Given the description of an element on the screen output the (x, y) to click on. 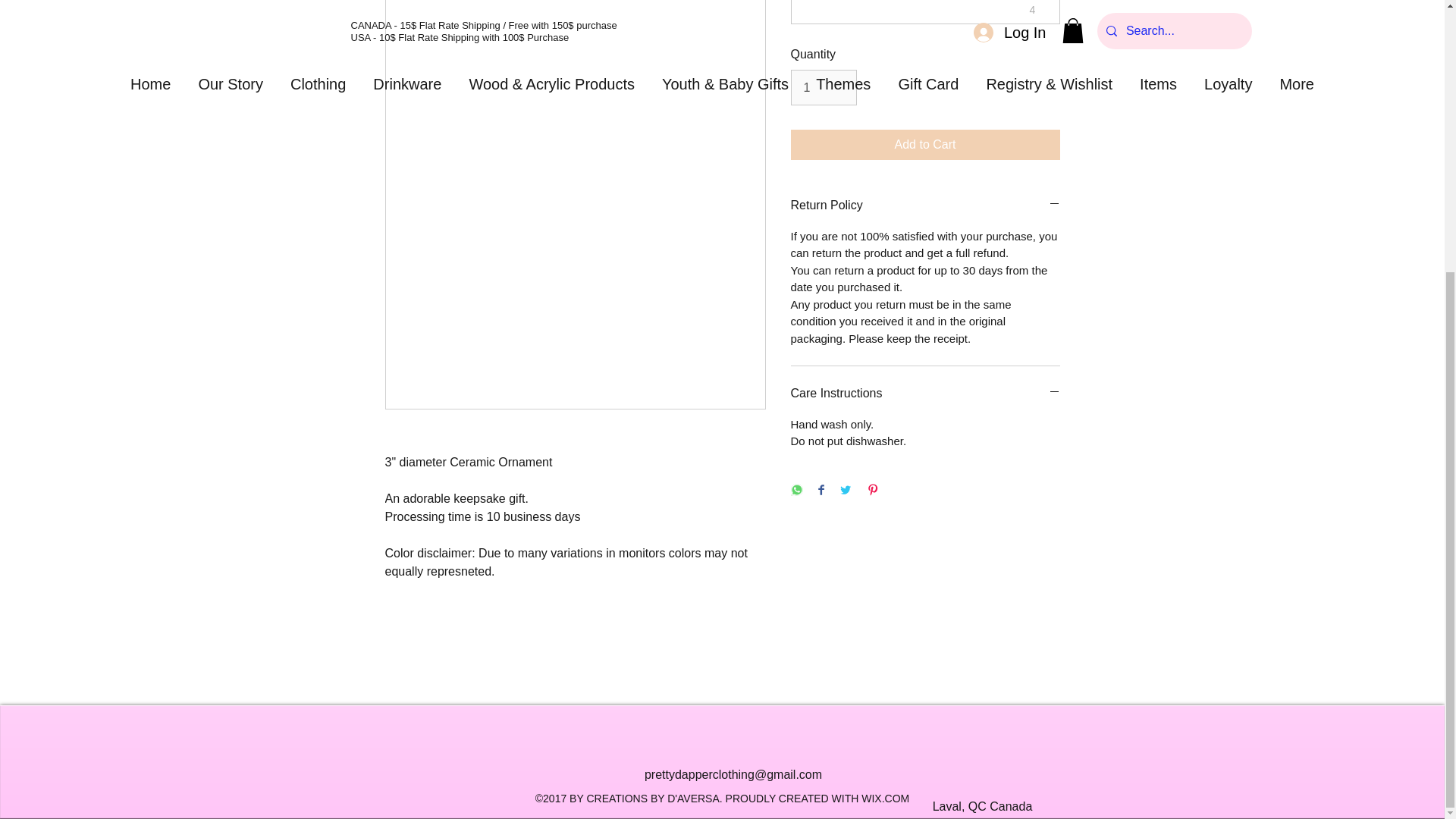
Care Instructions (924, 393)
Add to Cart (924, 144)
1 (823, 86)
Return Policy (924, 205)
